Given the description of an element on the screen output the (x, y) to click on. 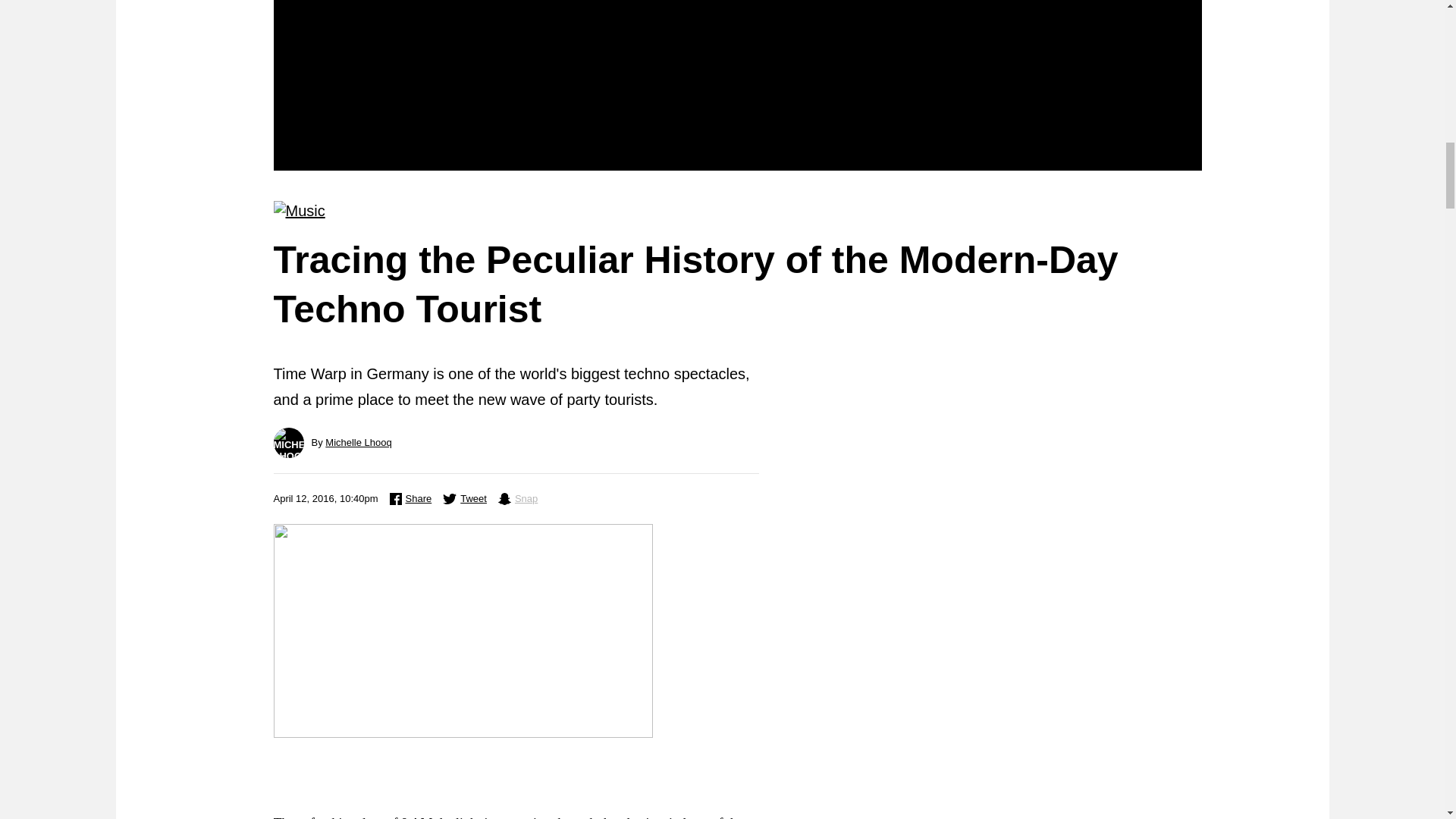
Share on Snapchat (517, 498)
